Given the description of an element on the screen output the (x, y) to click on. 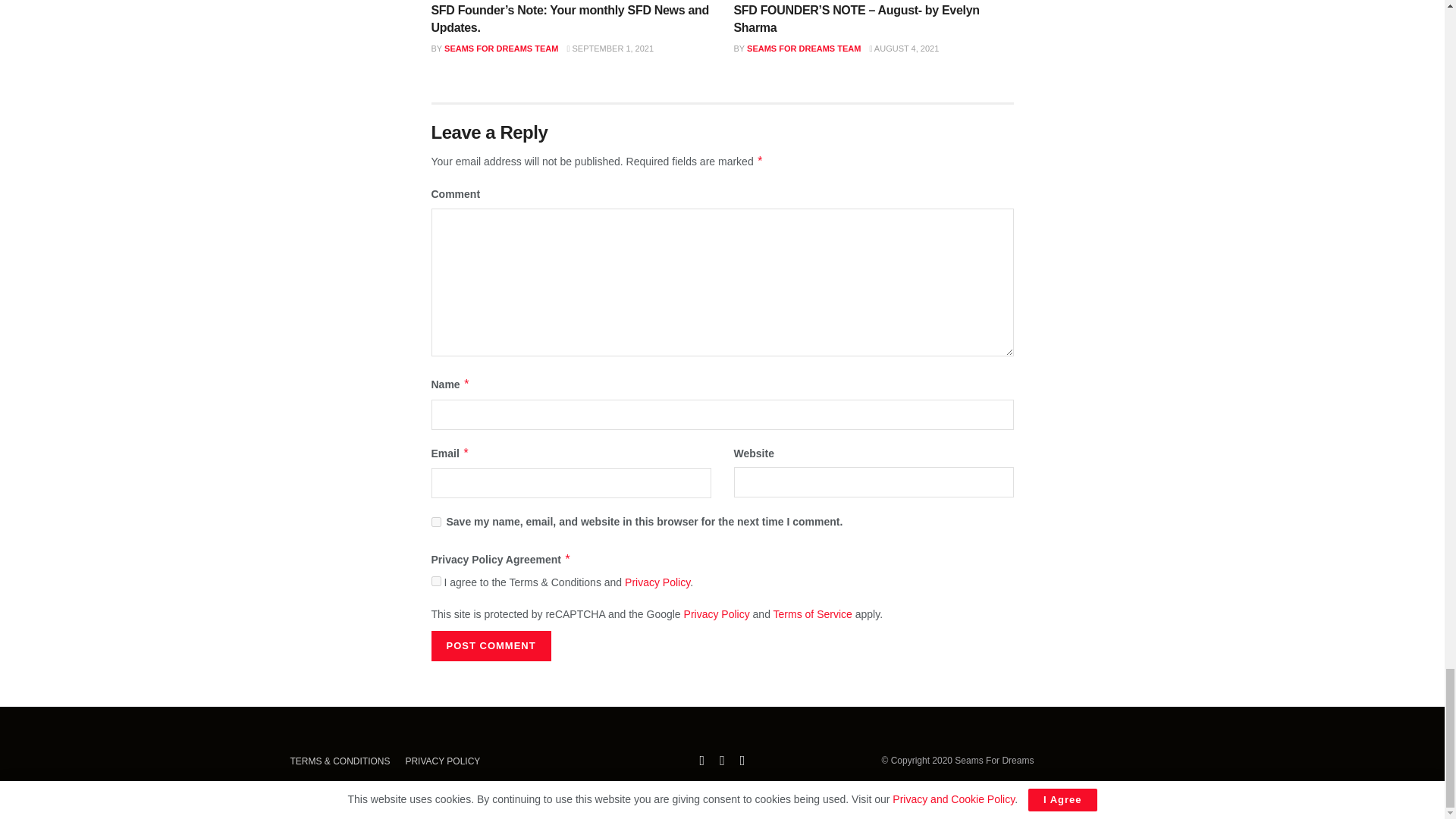
on (435, 581)
yes (435, 521)
Post Comment (490, 645)
